Given the description of an element on the screen output the (x, y) to click on. 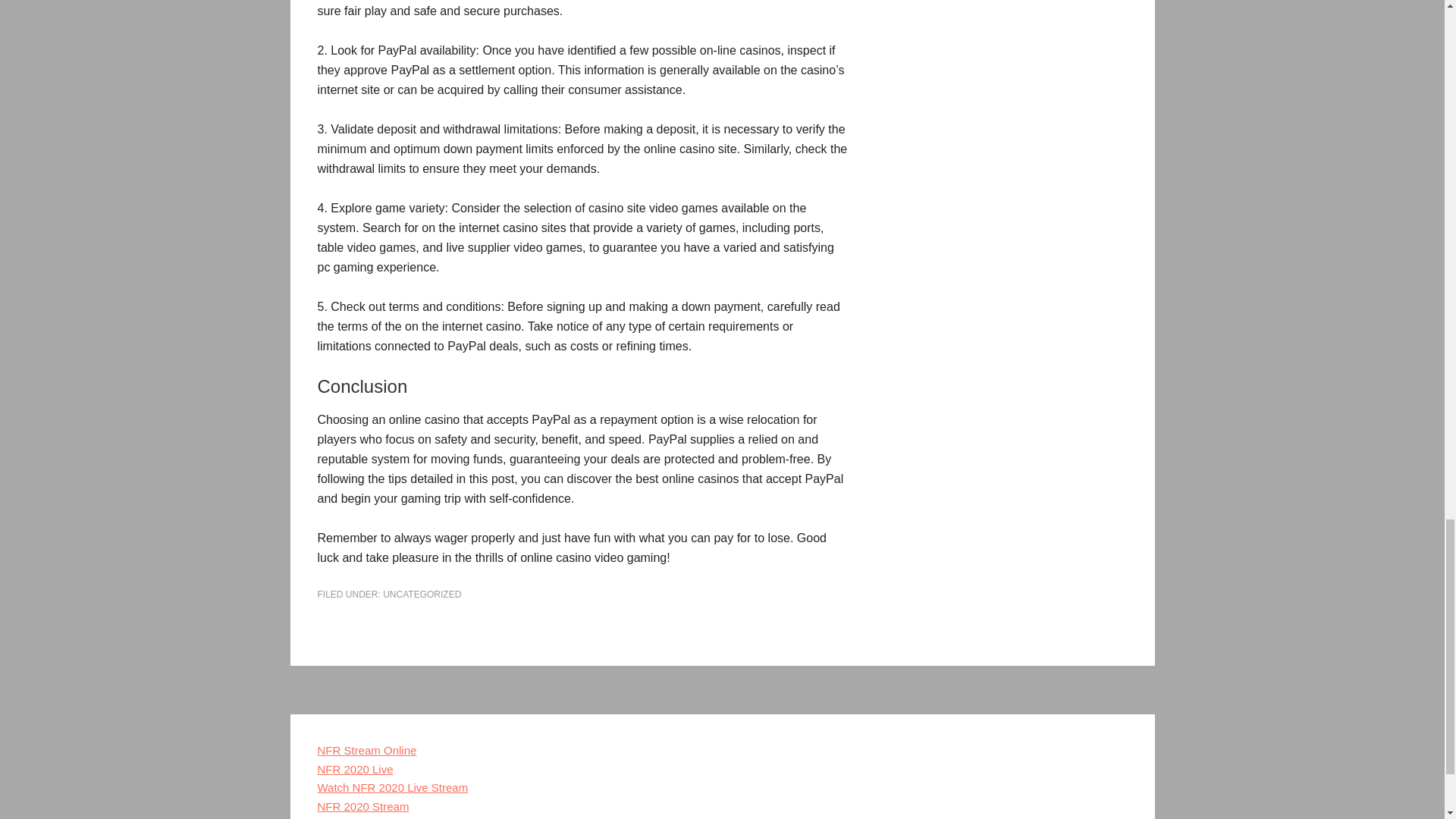
UNCATEGORIZED (421, 593)
NFR Stream Online (366, 749)
NFR 2020 Live (355, 768)
Watch NFR 2020 Live Stream (392, 787)
NFR 2020 Stream (363, 806)
